Given the description of an element on the screen output the (x, y) to click on. 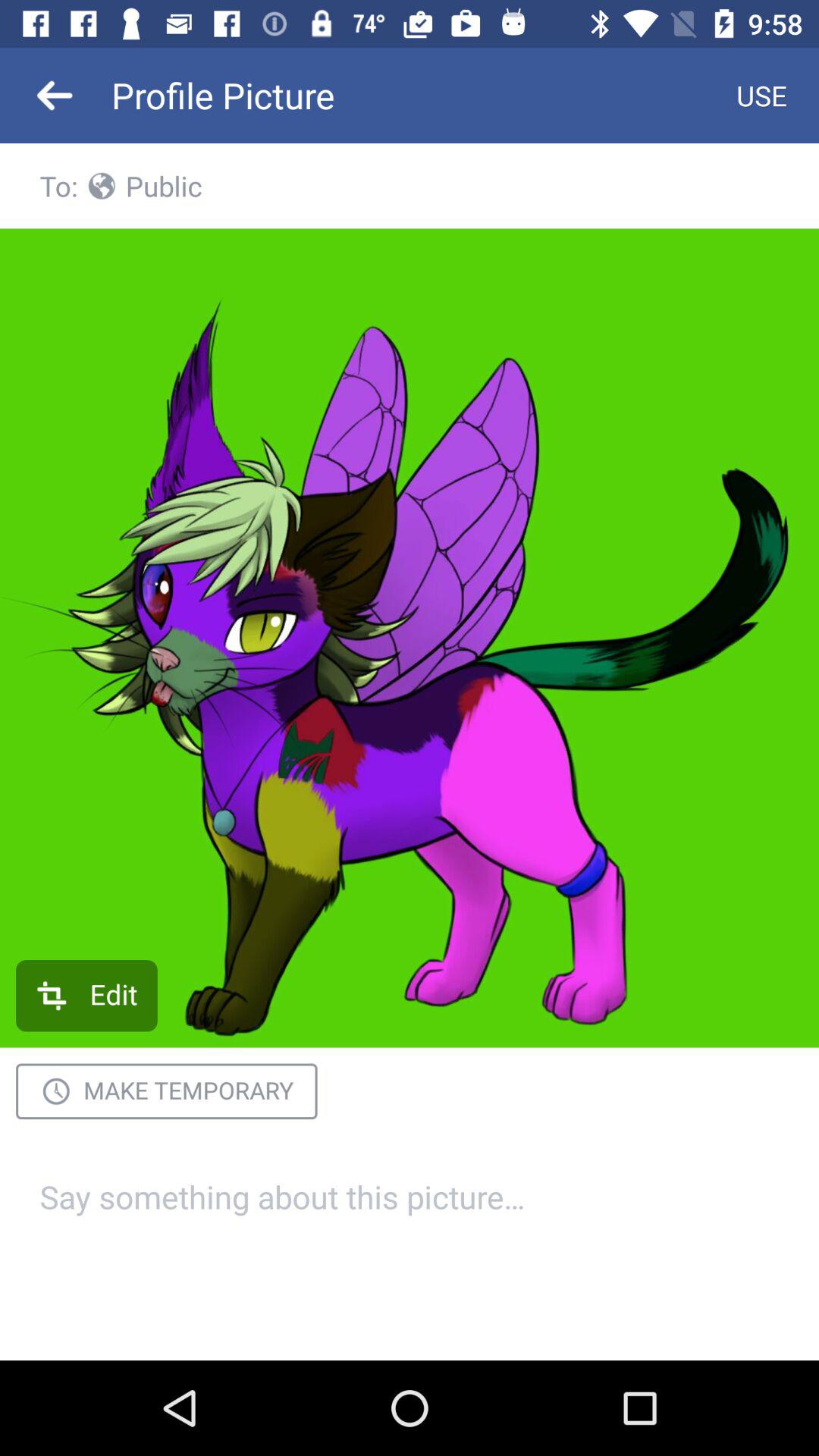
turn on use item (761, 95)
